Given the description of an element on the screen output the (x, y) to click on. 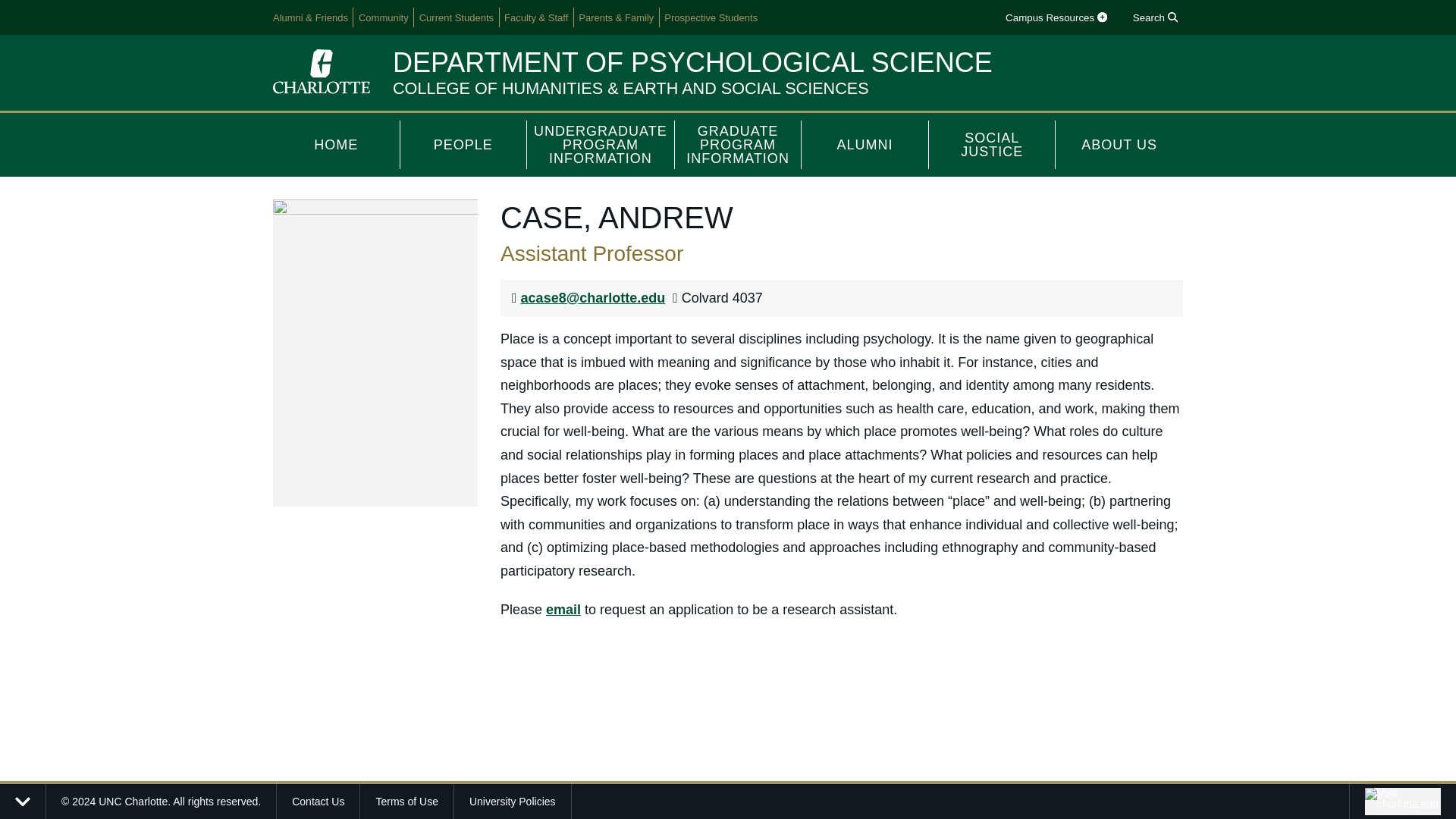
PEOPLE (463, 144)
HOME (336, 144)
Community (383, 17)
DEPARTMENT OF PSYCHOLOGICAL SCIENCE (692, 61)
Current Students (456, 17)
Prospective Students (710, 17)
Search (1154, 16)
Campus Resources (1056, 16)
